Given the description of an element on the screen output the (x, y) to click on. 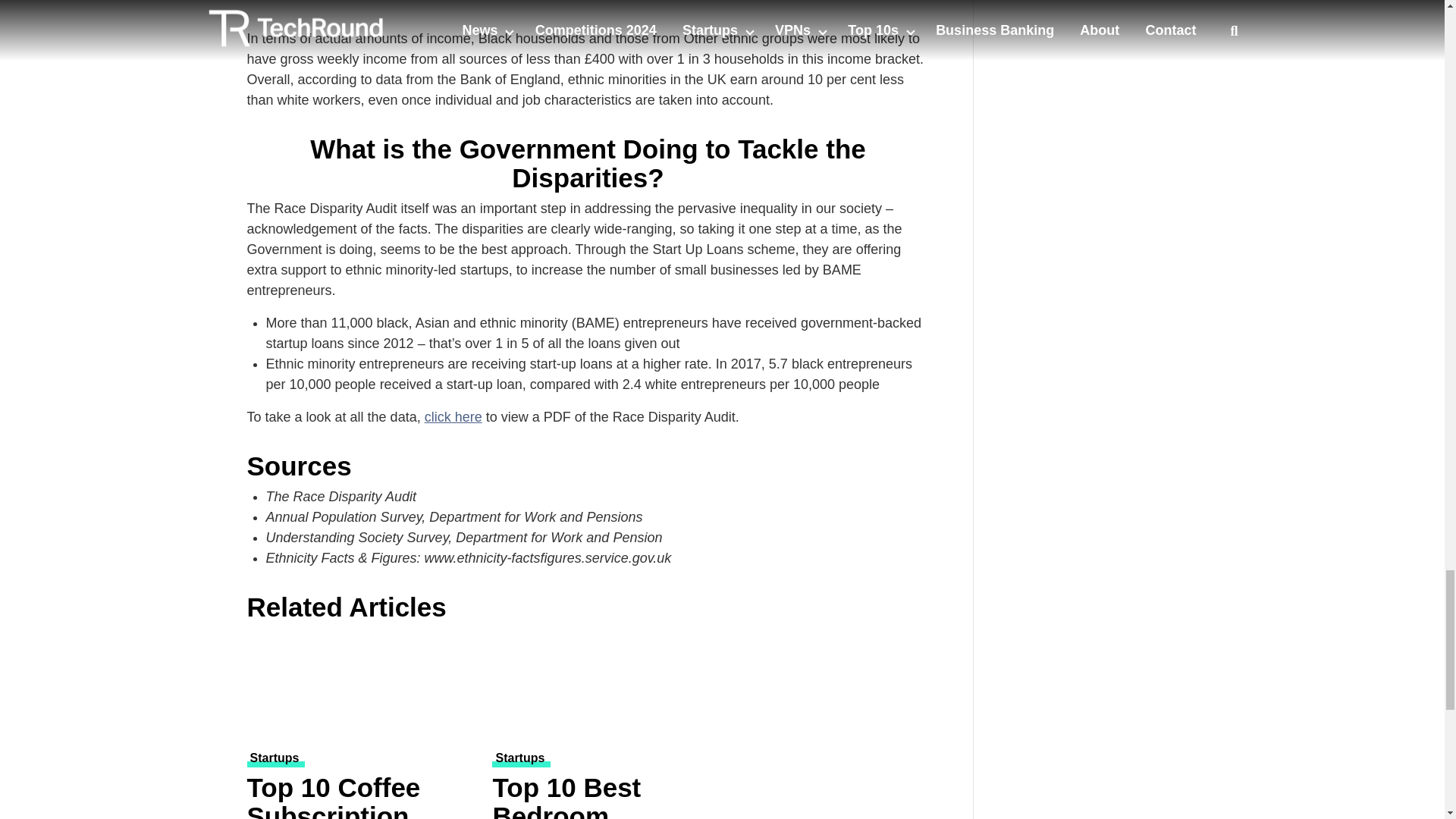
Top 10 Coffee Subscription Boxes (360, 796)
Top 10 Coffee Subscription Boxes (360, 688)
